Given the description of an element on the screen output the (x, y) to click on. 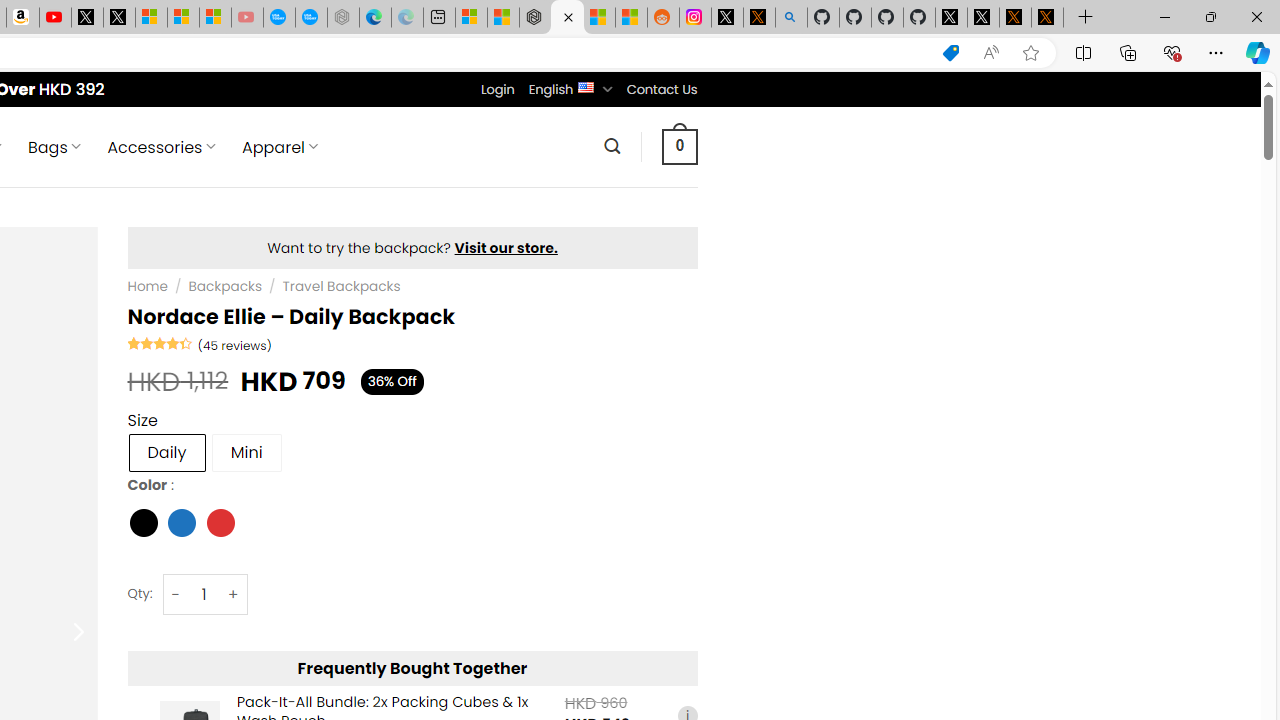
Log in to X / X (727, 17)
X Privacy Policy (1047, 17)
Profile / X (950, 17)
Login (497, 89)
Travel Backpacks (340, 286)
Day 1: Arriving in Yemen (surreal to be here) - YouTube (54, 17)
This site has coupons! Shopping in Microsoft Edge (950, 53)
Nordace Ellie - Daily Backpack quantity (204, 593)
